Given the description of an element on the screen output the (x, y) to click on. 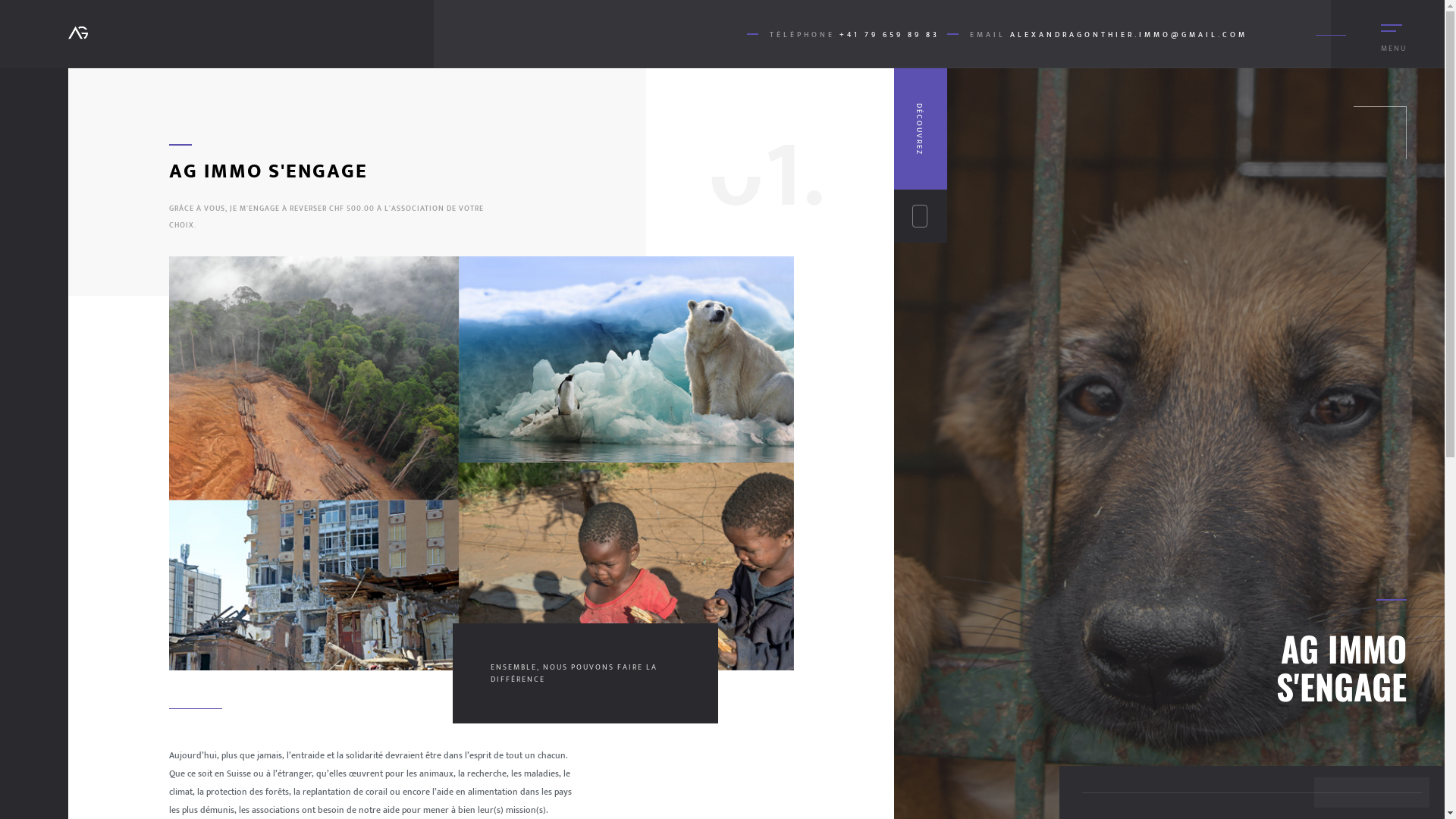
+41 79 659 89 83 Element type: text (889, 34)
ALEXANDRAGONTHIER.IMMO@GMAIL.COM Element type: text (1128, 34)
LIMAXX.CH Element type: text (568, 784)
